Given the description of an element on the screen output the (x, y) to click on. 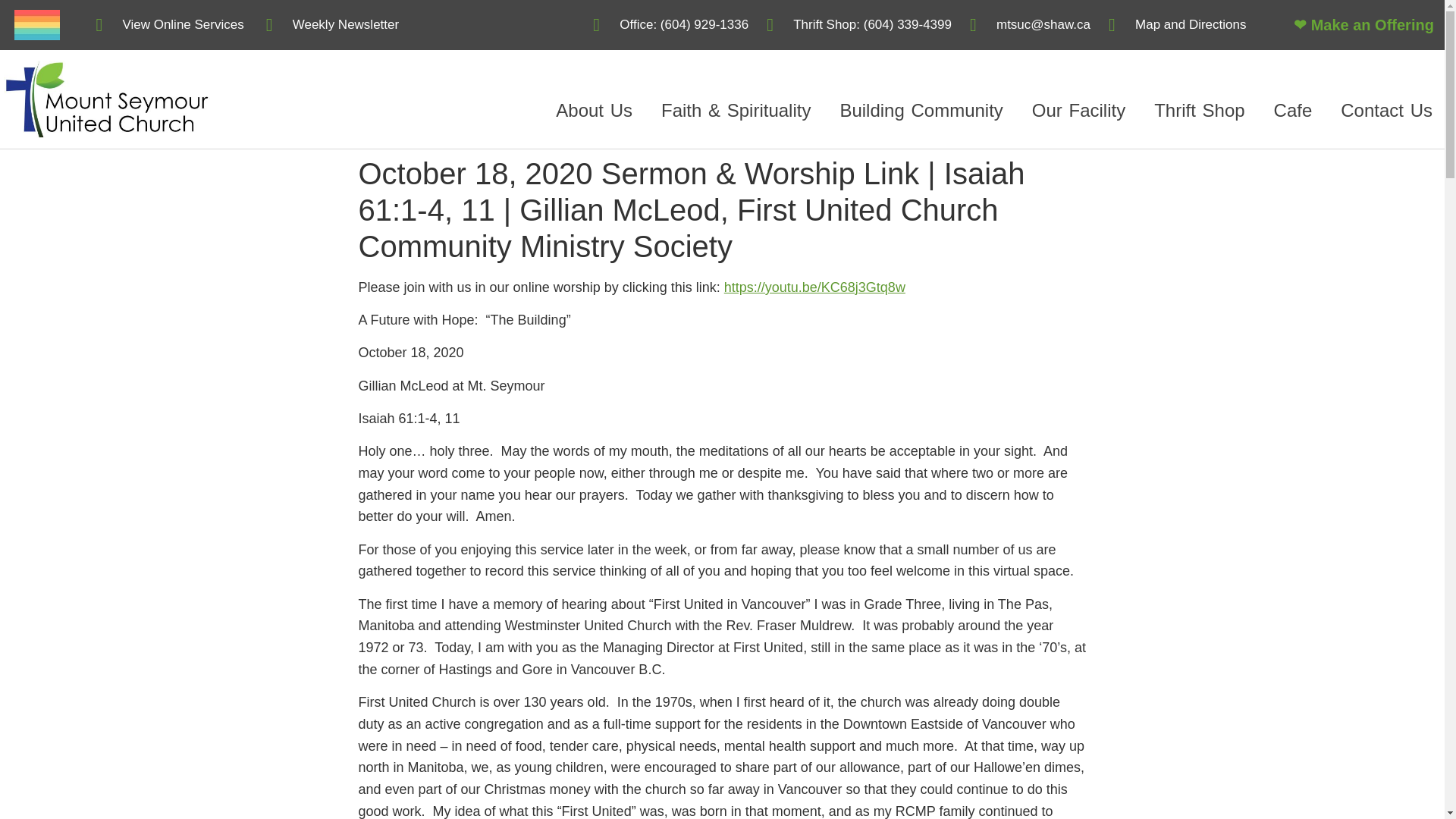
About Us (594, 110)
Weekly Newsletter (332, 25)
View Online Services (169, 25)
Map and Directions (1177, 25)
